Given the description of an element on the screen output the (x, y) to click on. 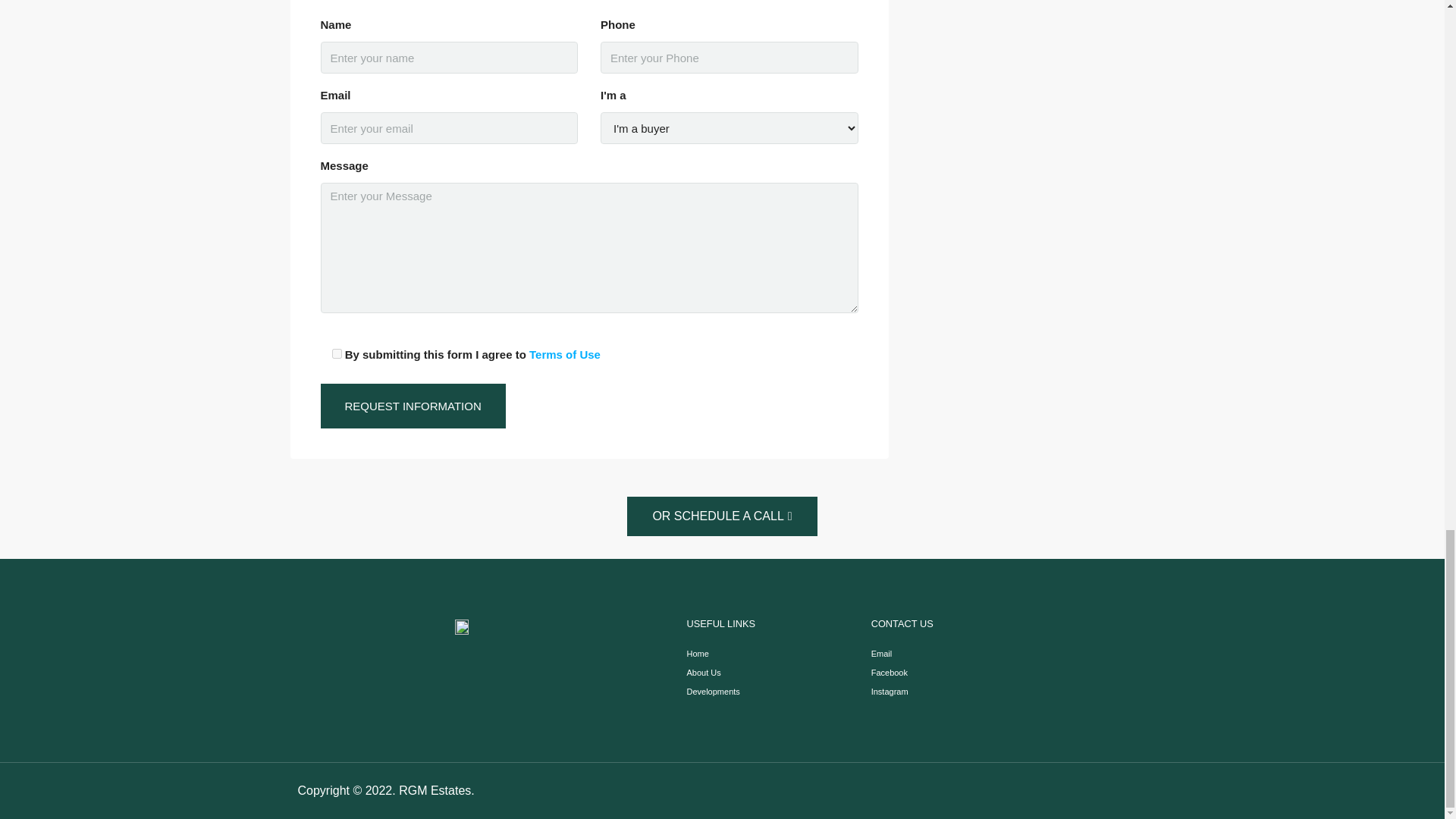
Request Information (412, 406)
1 (336, 353)
